Given the description of an element on the screen output the (x, y) to click on. 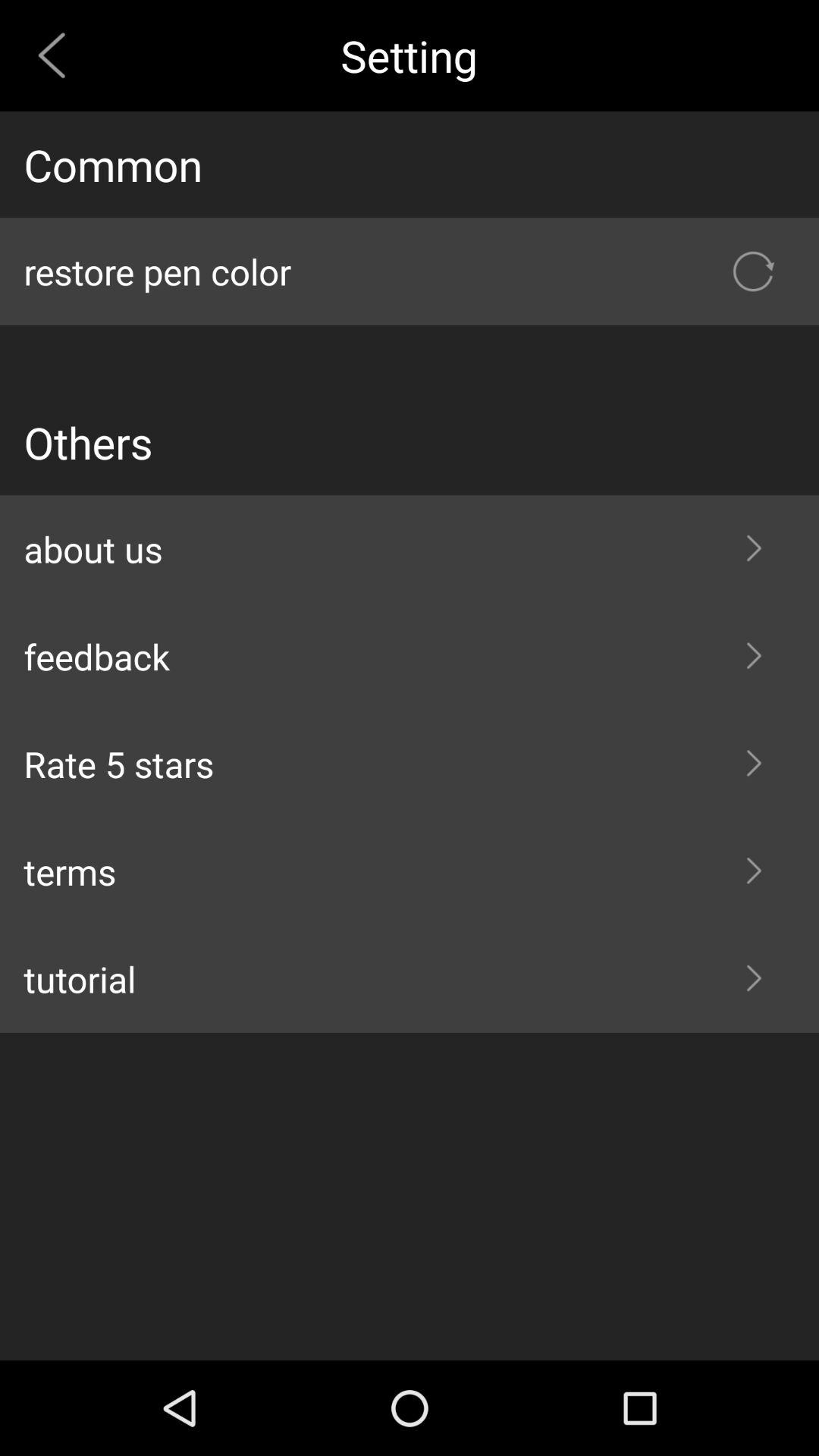
back to the previous page (57, 55)
